Given the description of an element on the screen output the (x, y) to click on. 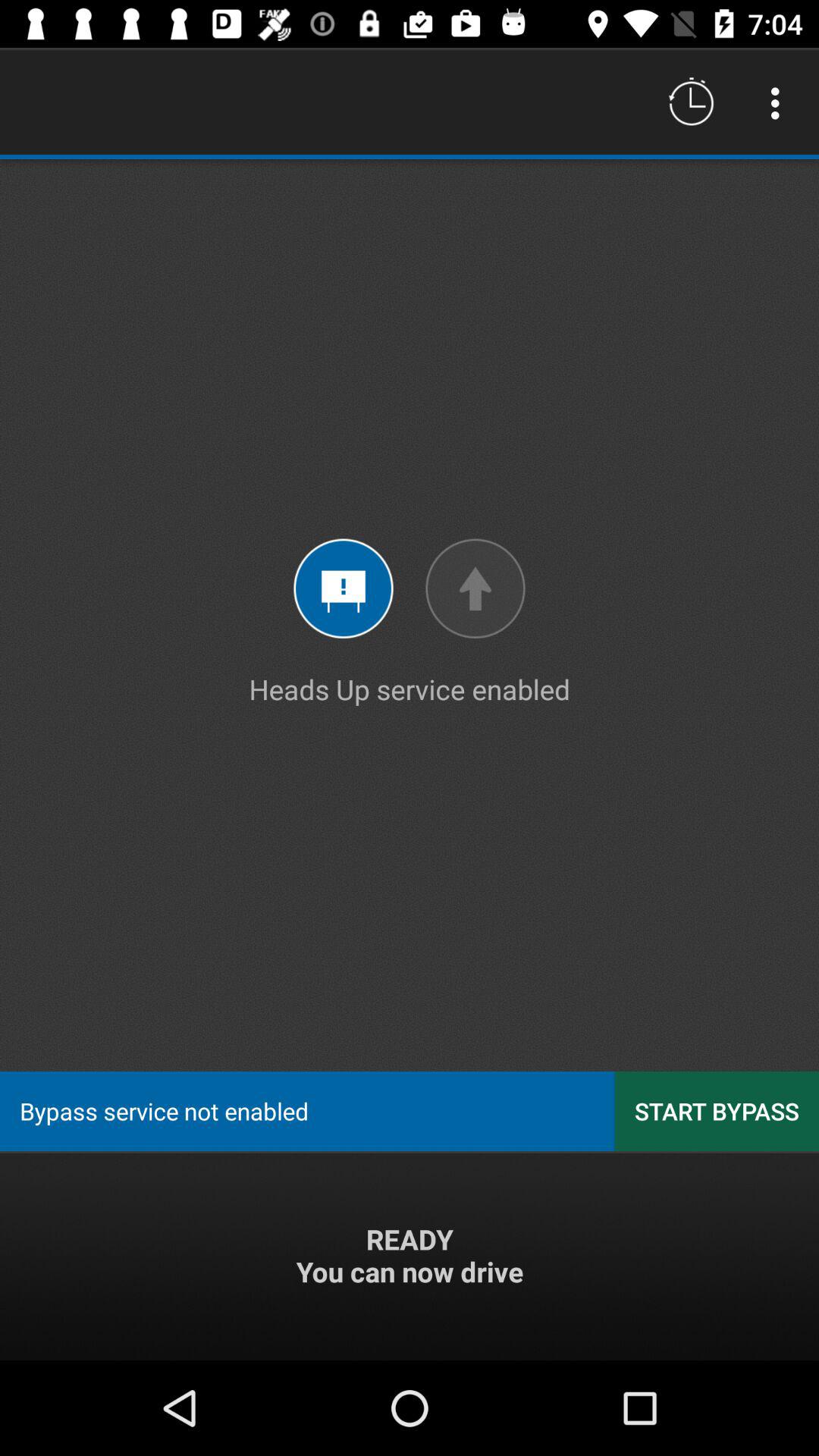
choose the item below the heads up service (716, 1111)
